Given the description of an element on the screen output the (x, y) to click on. 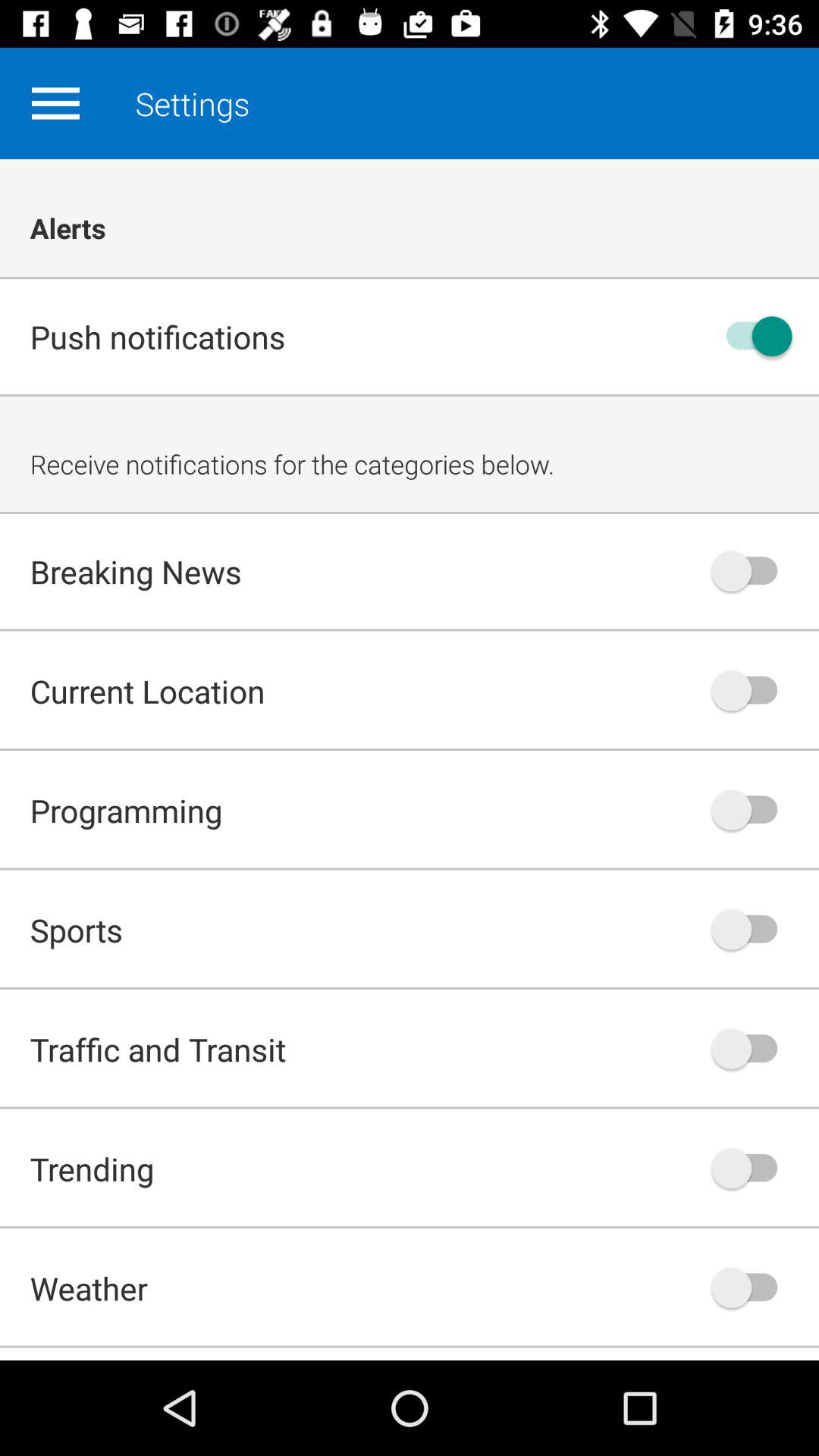
toggle push notifications (751, 336)
